Given the description of an element on the screen output the (x, y) to click on. 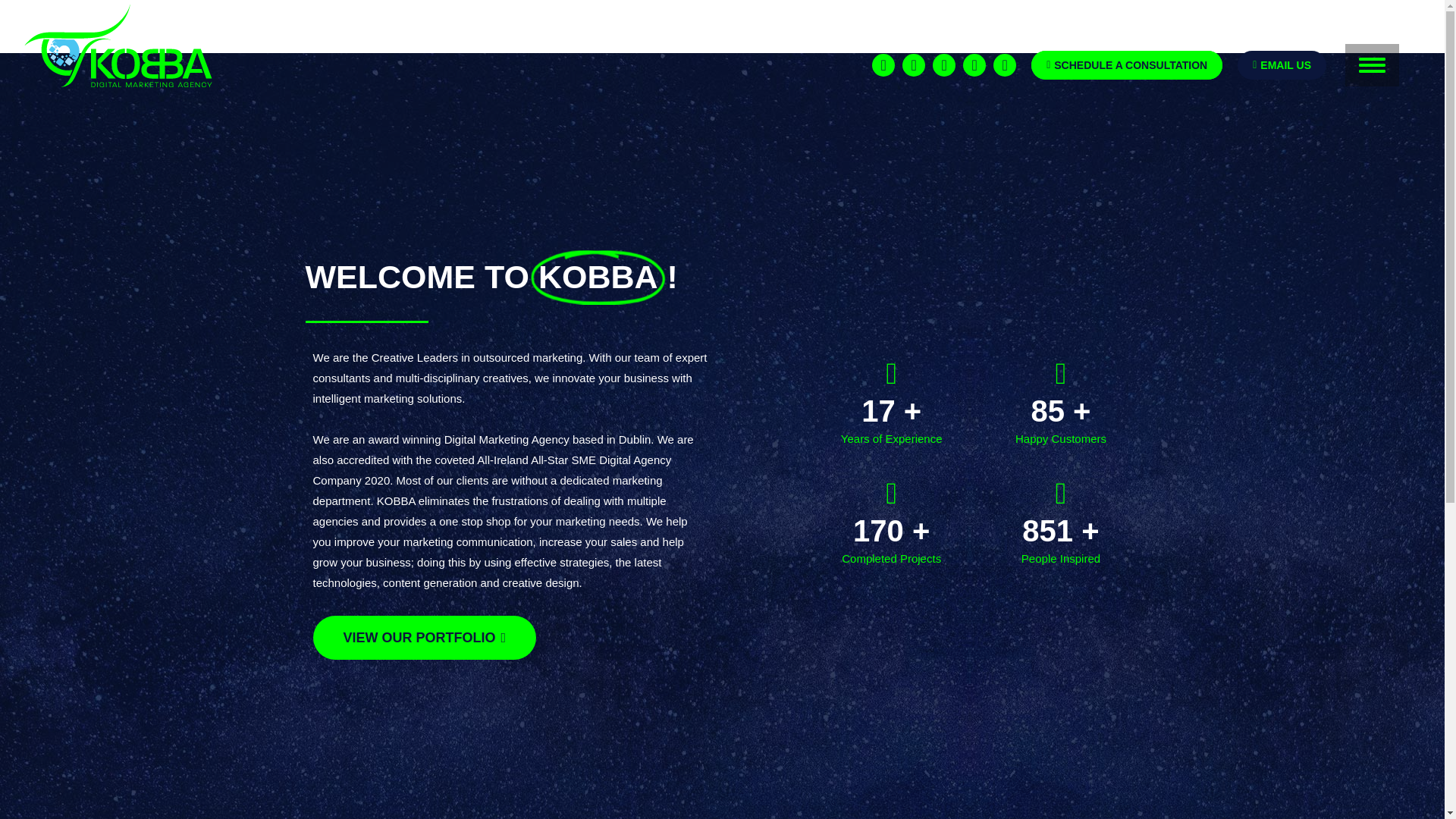
Instagram page opens in new window (913, 64)
Facebook page opens in new window (944, 64)
YouTube page opens in new window (1004, 64)
X page opens in new window (973, 64)
Linkedin page opens in new window (883, 64)
